Given the description of an element on the screen output the (x, y) to click on. 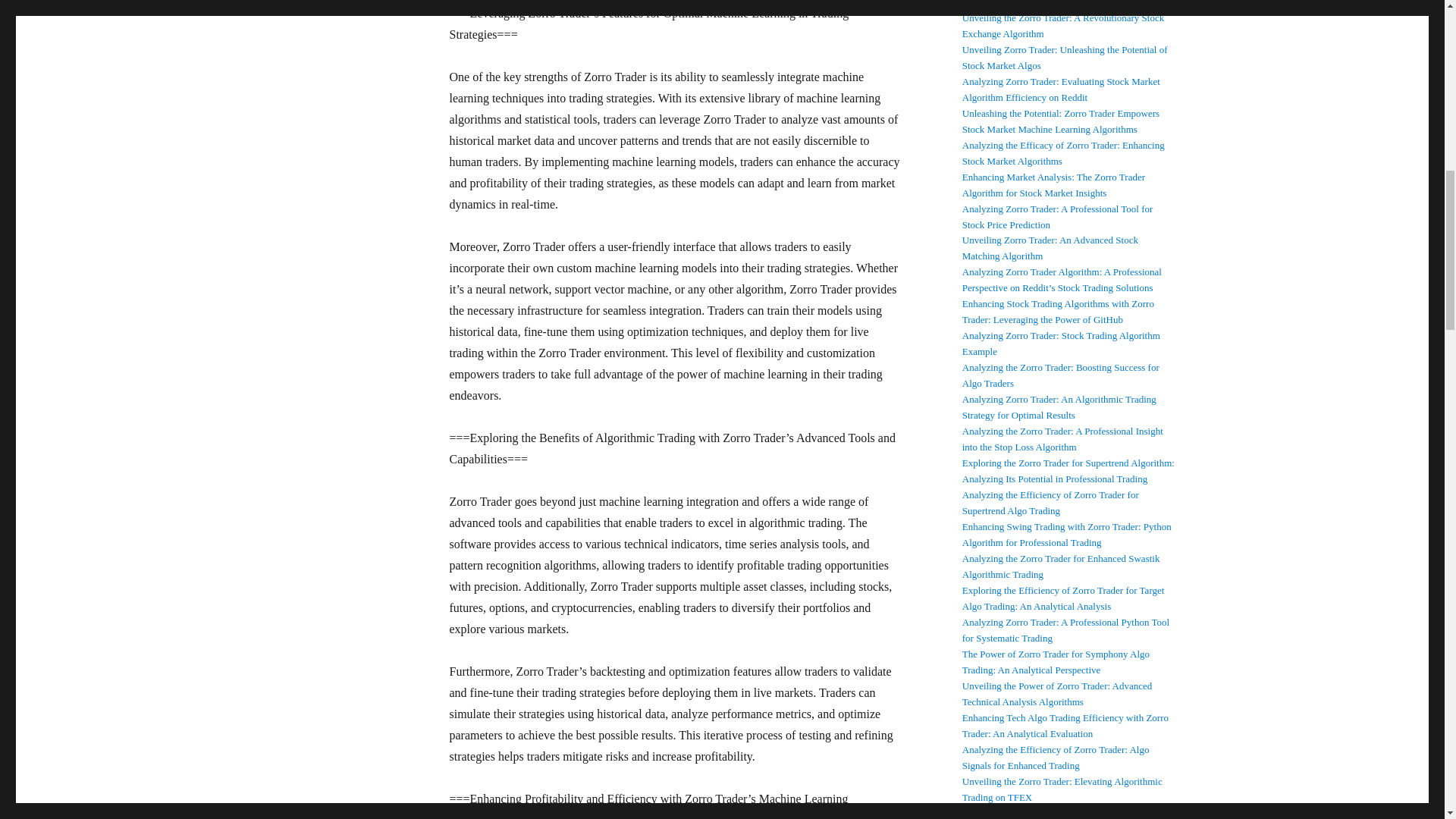
Unveiling Zorro Trader: An Advanced Stock Matching Algorithm (1050, 247)
Analyzing Zorro Trader: Stock Trading Algorithm Example (1061, 343)
